Given the description of an element on the screen output the (x, y) to click on. 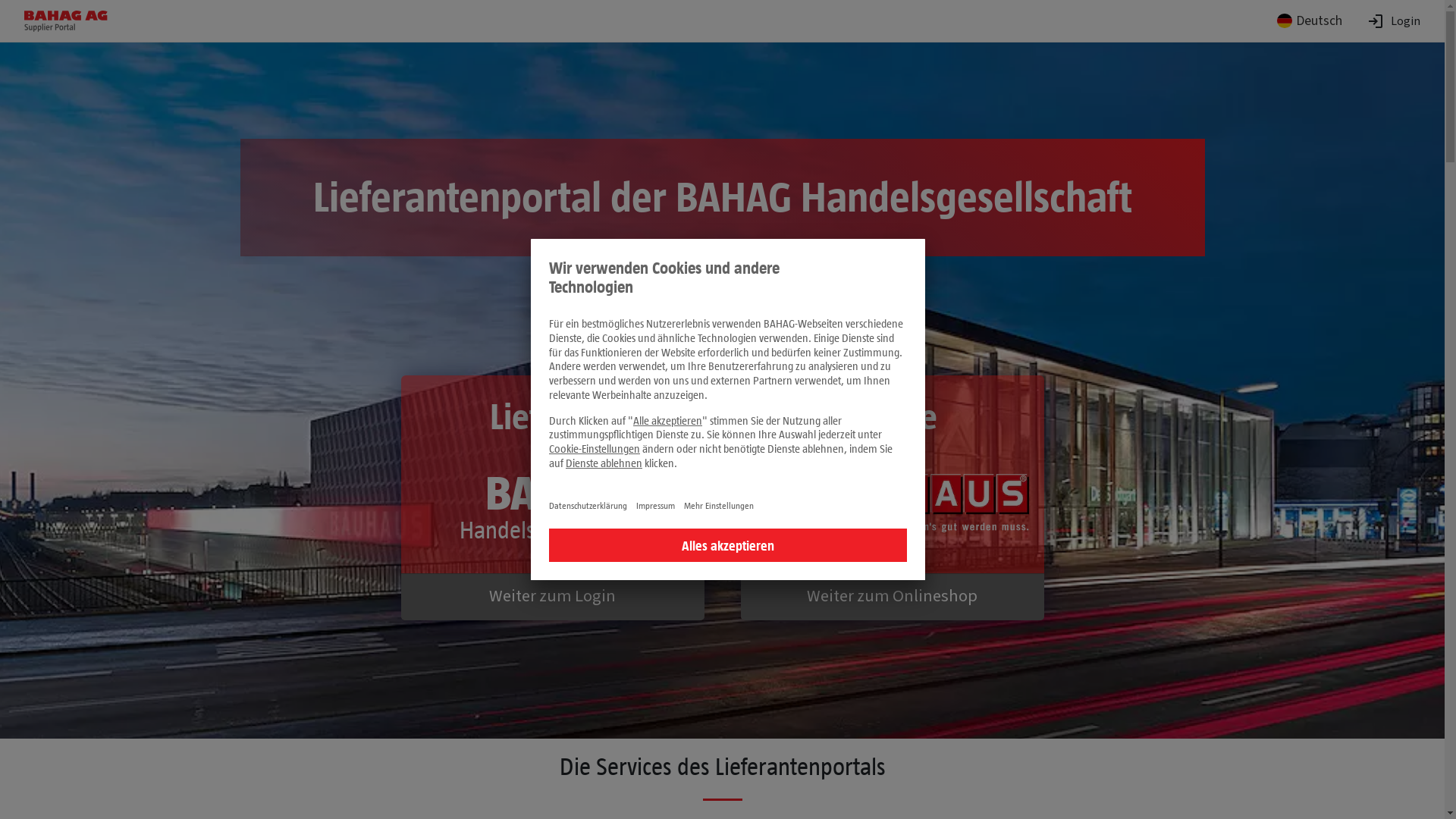
Deutsch Element type: text (1309, 21)
Lieferant
BAHAG
Handelsgesellschaft
Weiter zum Login Element type: text (551, 497)
login
Login Element type: text (1393, 21)
Kunde
Weiter zum Onlineshop Element type: text (891, 497)
